Given the description of an element on the screen output the (x, y) to click on. 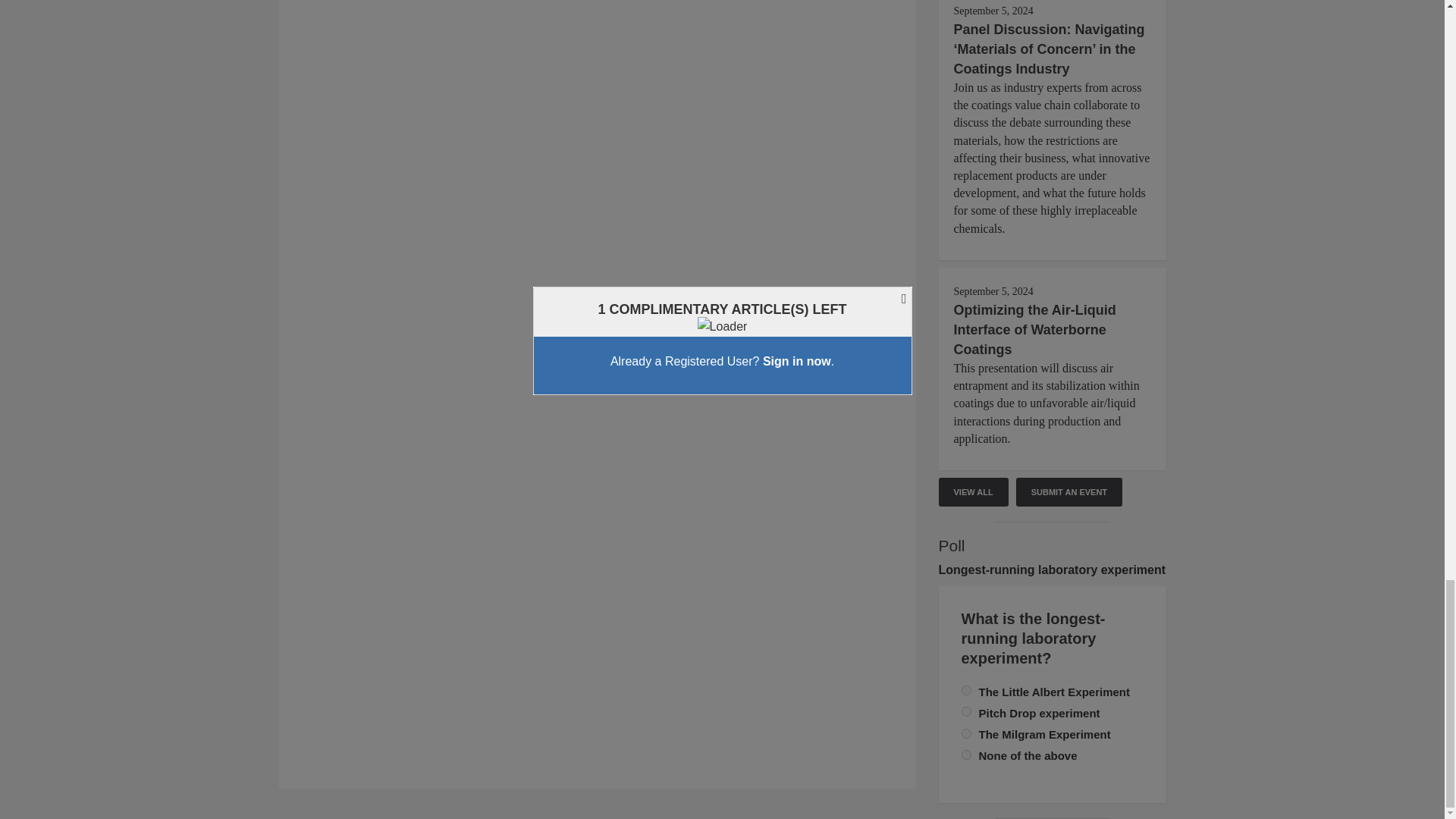
Optimizing the Air-Liquid Interface of Waterborne Coatings (1034, 329)
230 (965, 711)
233 (965, 690)
232 (965, 733)
231 (965, 755)
